Given the description of an element on the screen output the (x, y) to click on. 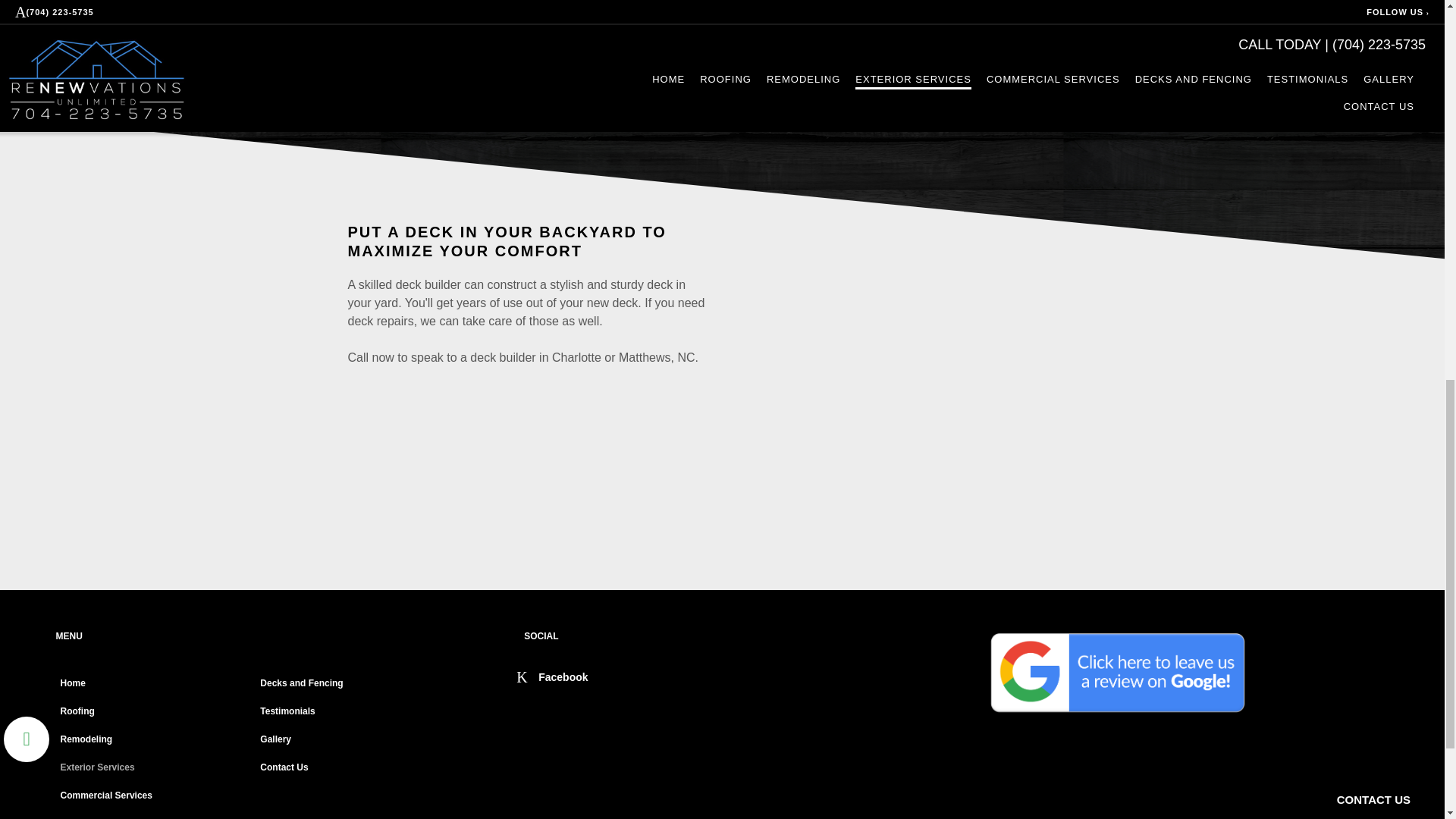
Remodeling (153, 741)
Commercial Services (153, 797)
Contact Us (353, 769)
Roofing (153, 712)
Home (153, 684)
Facebook (552, 675)
Decks and Fencing (353, 684)
Exterior Services (153, 769)
Testimonials (353, 712)
Gallery (353, 741)
